Given the description of an element on the screen output the (x, y) to click on. 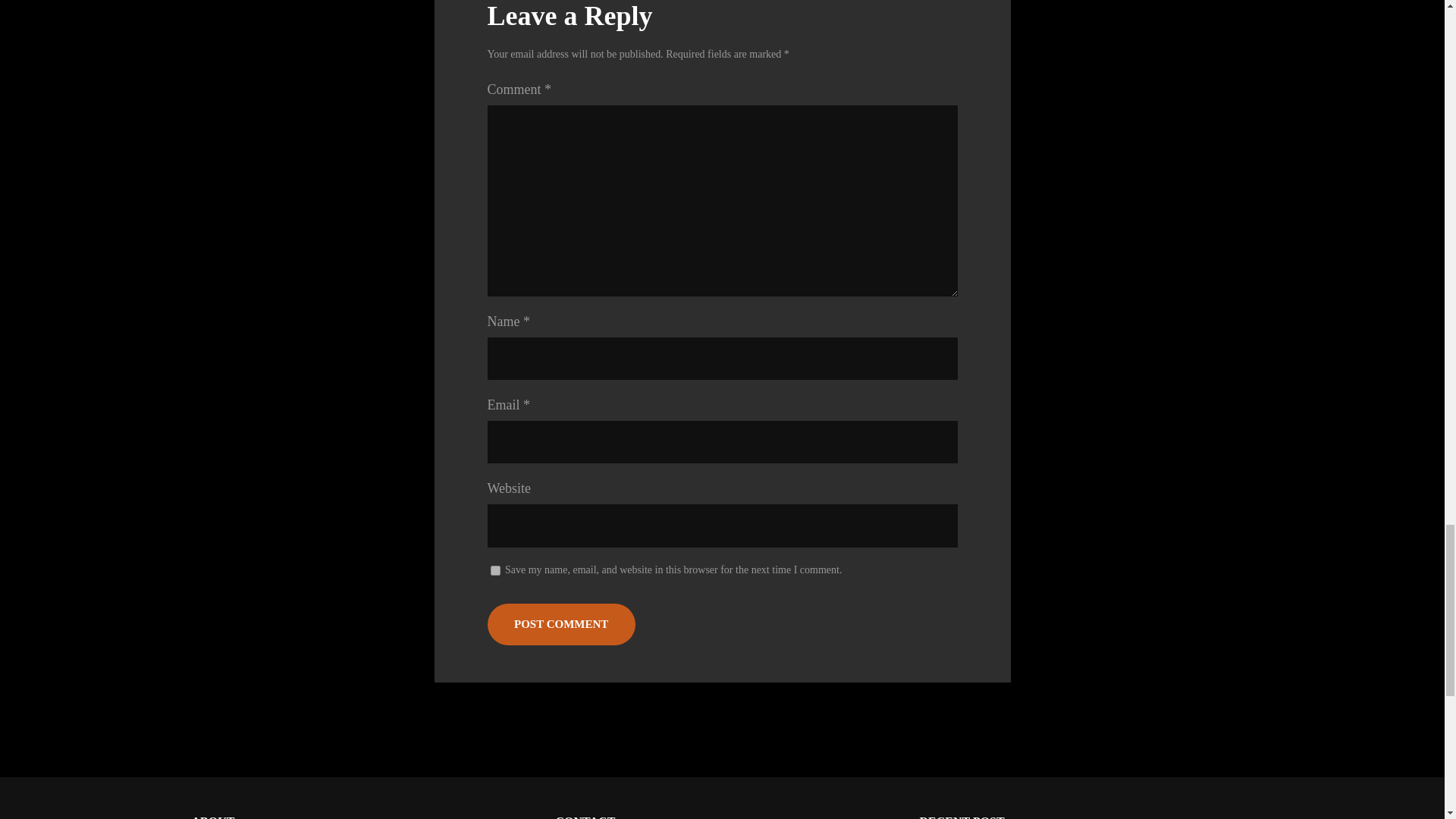
Post Comment (560, 624)
Post Comment (560, 624)
